Given the description of an element on the screen output the (x, y) to click on. 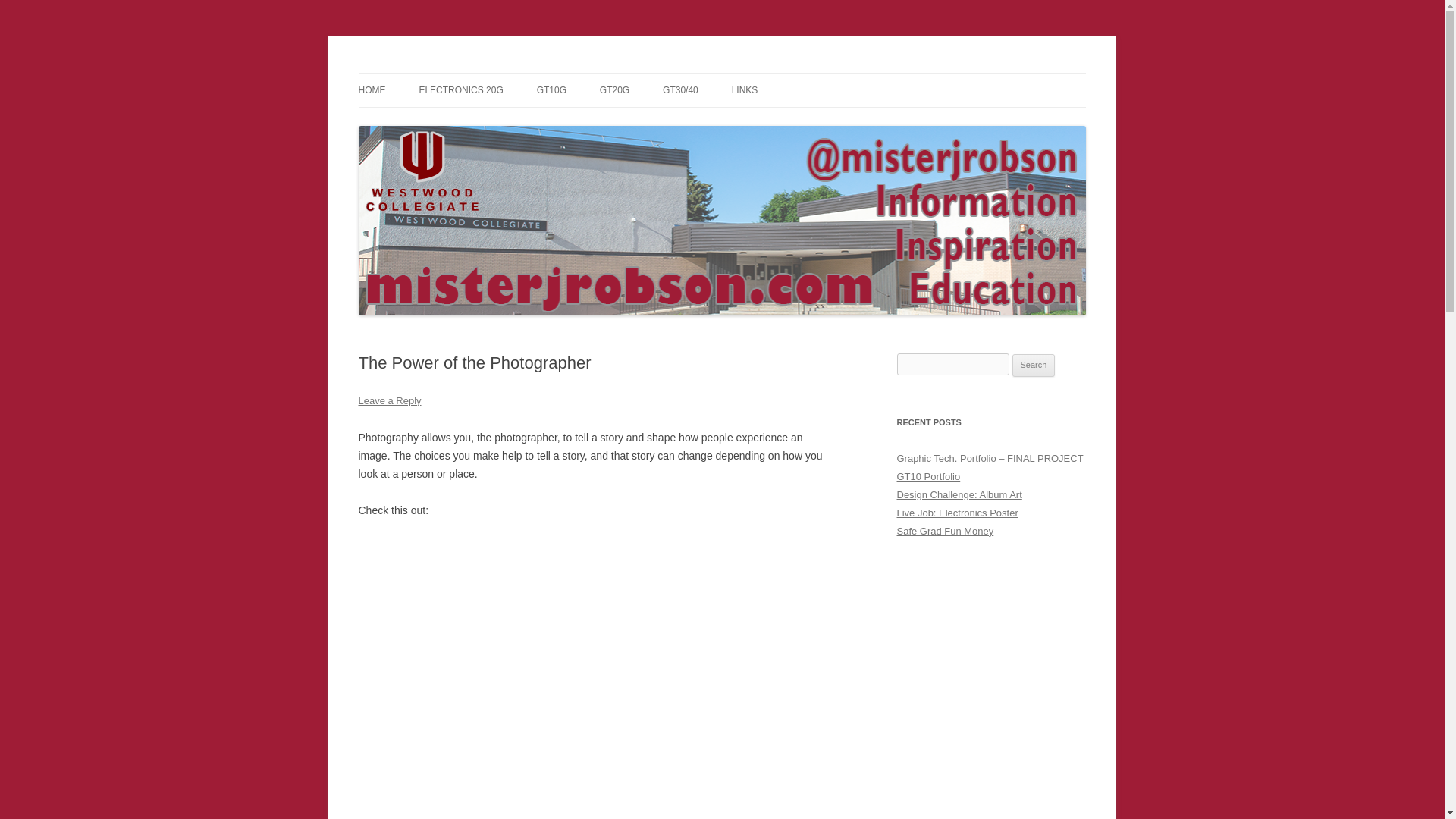
Live Job: Electronics Poster (956, 512)
ELECTRONICS 20G (460, 90)
GT10 Portfolio (927, 476)
Search (1033, 364)
Search (1033, 364)
Mister Robson's World (464, 72)
Leave a Reply (389, 400)
ELECTRONICS 20 (494, 122)
Safe Grad Fun Money (944, 531)
